Given the description of an element on the screen output the (x, y) to click on. 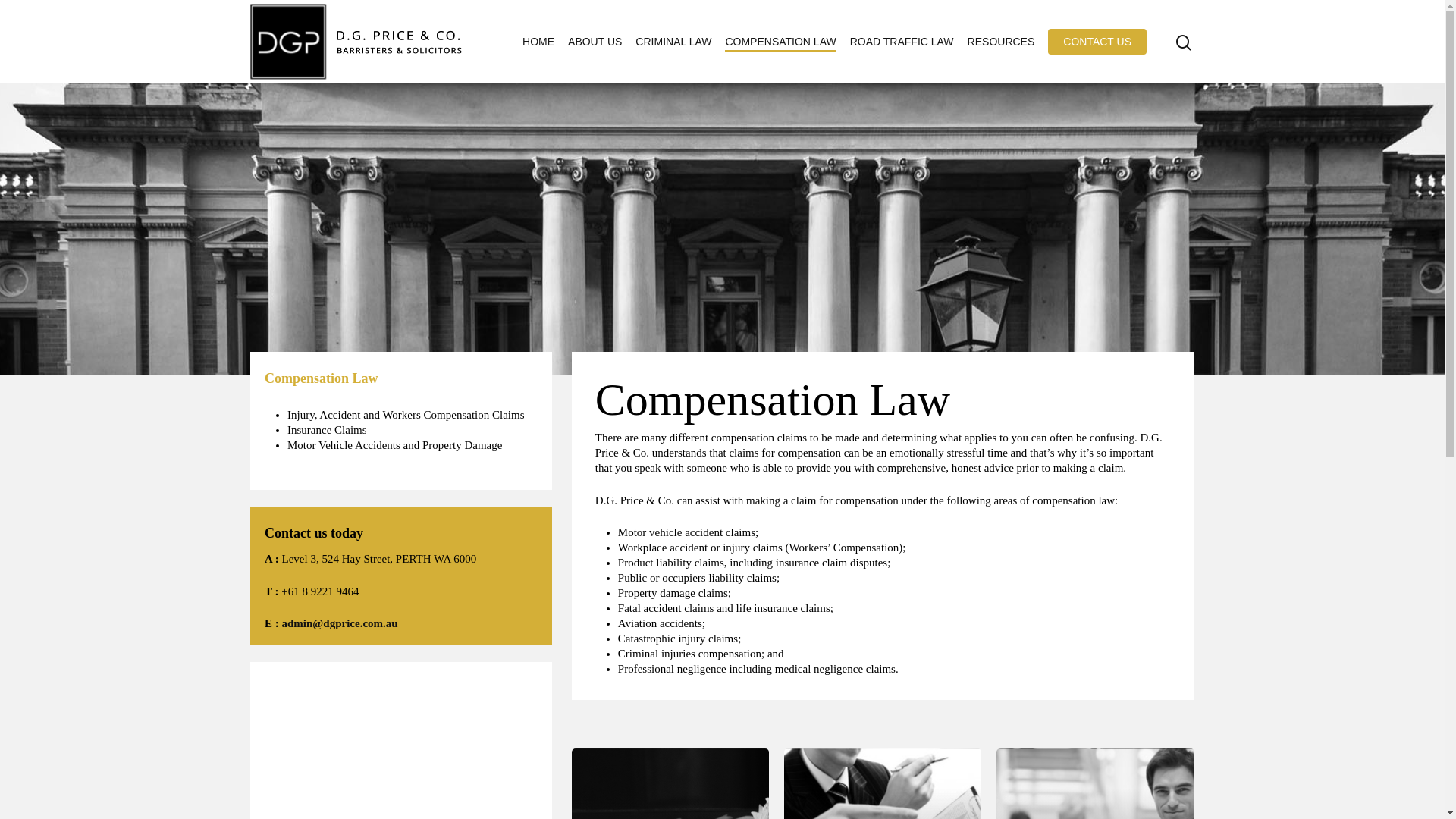
HOME Element type: text (538, 41)
Motor Vehicle Accidents and Property Damage Element type: text (394, 445)
CONTACT US Element type: text (1097, 41)
Compensation Law Element type: text (321, 377)
COMPENSATION LAW Element type: text (779, 41)
RESOURCES Element type: text (1001, 41)
ROAD TRAFFIC LAW Element type: text (901, 41)
admin@dgprice.com.au Element type: text (340, 623)
Insurance Claims Element type: text (327, 429)
CRIMINAL LAW Element type: text (673, 41)
ABOUT US Element type: text (594, 41)
Injury, Accident and Workers Compensation Claims Element type: text (405, 414)
